Given the description of an element on the screen output the (x, y) to click on. 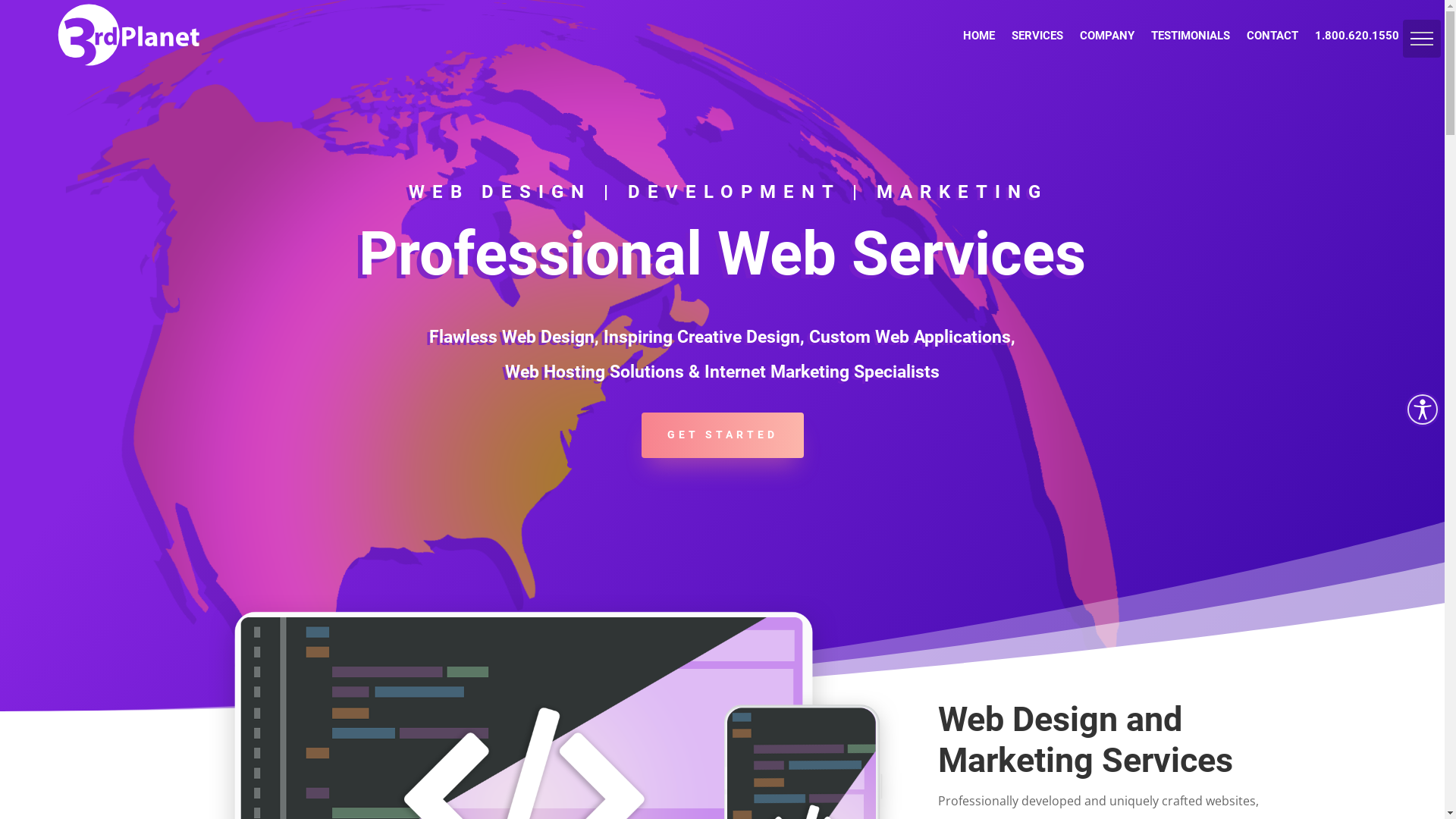
COMPANY Element type: text (1106, 35)
HOME Element type: text (978, 35)
1.800.620.1550 Element type: text (1356, 35)
SERVICES Element type: text (1037, 35)
GET STARTED Element type: text (722, 435)
CONTACT Element type: text (1272, 35)
TESTIMONIALS Element type: text (1190, 35)
